Given the description of an element on the screen output the (x, y) to click on. 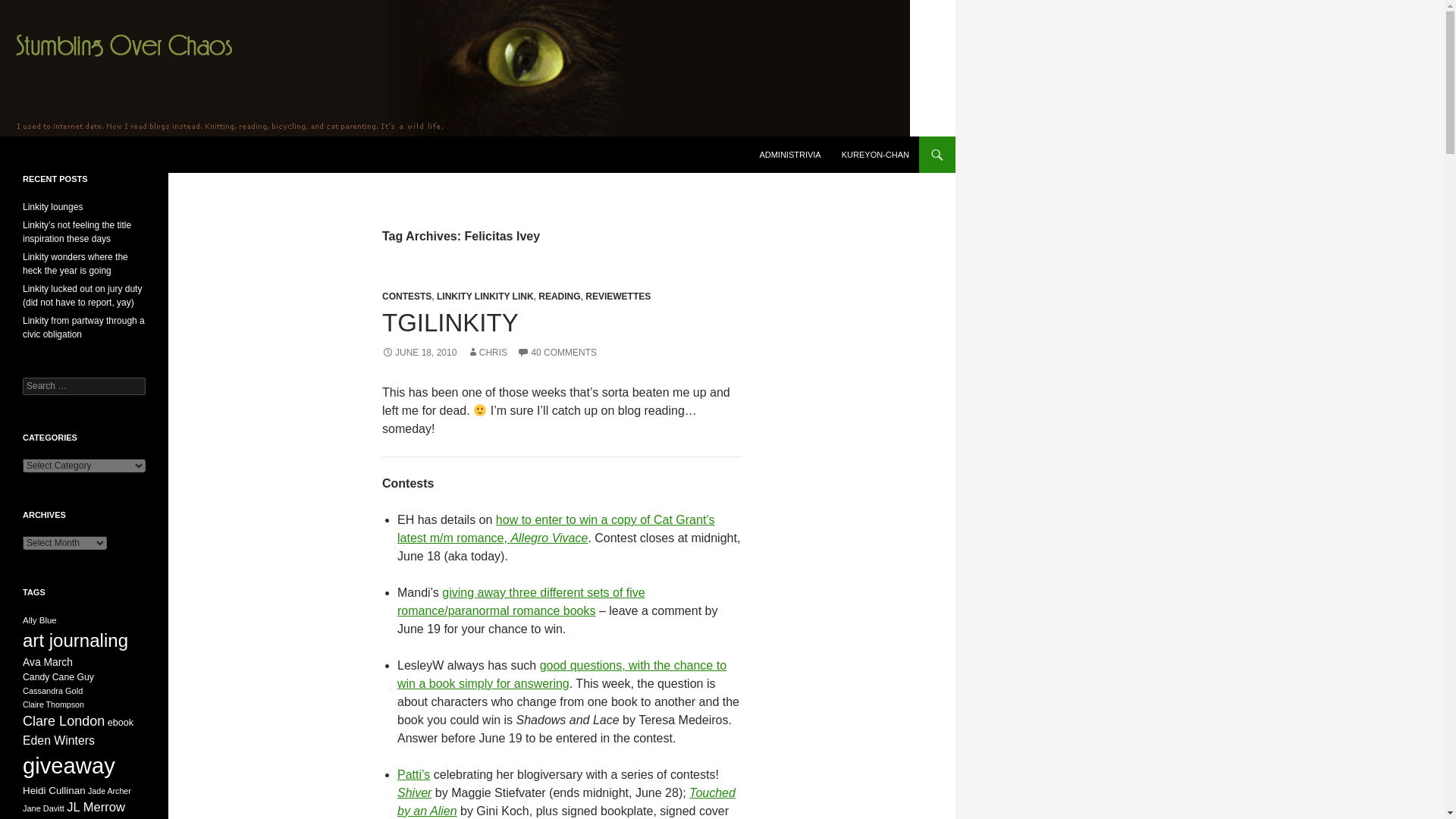
CONTESTS (405, 296)
REVIEWETTES (617, 296)
JUNE 18, 2010 (419, 352)
CHRIS (486, 352)
ADMINISTRIVIA (789, 154)
LINKITY LINKITY LINK (485, 296)
Shiver (413, 792)
